Given the description of an element on the screen output the (x, y) to click on. 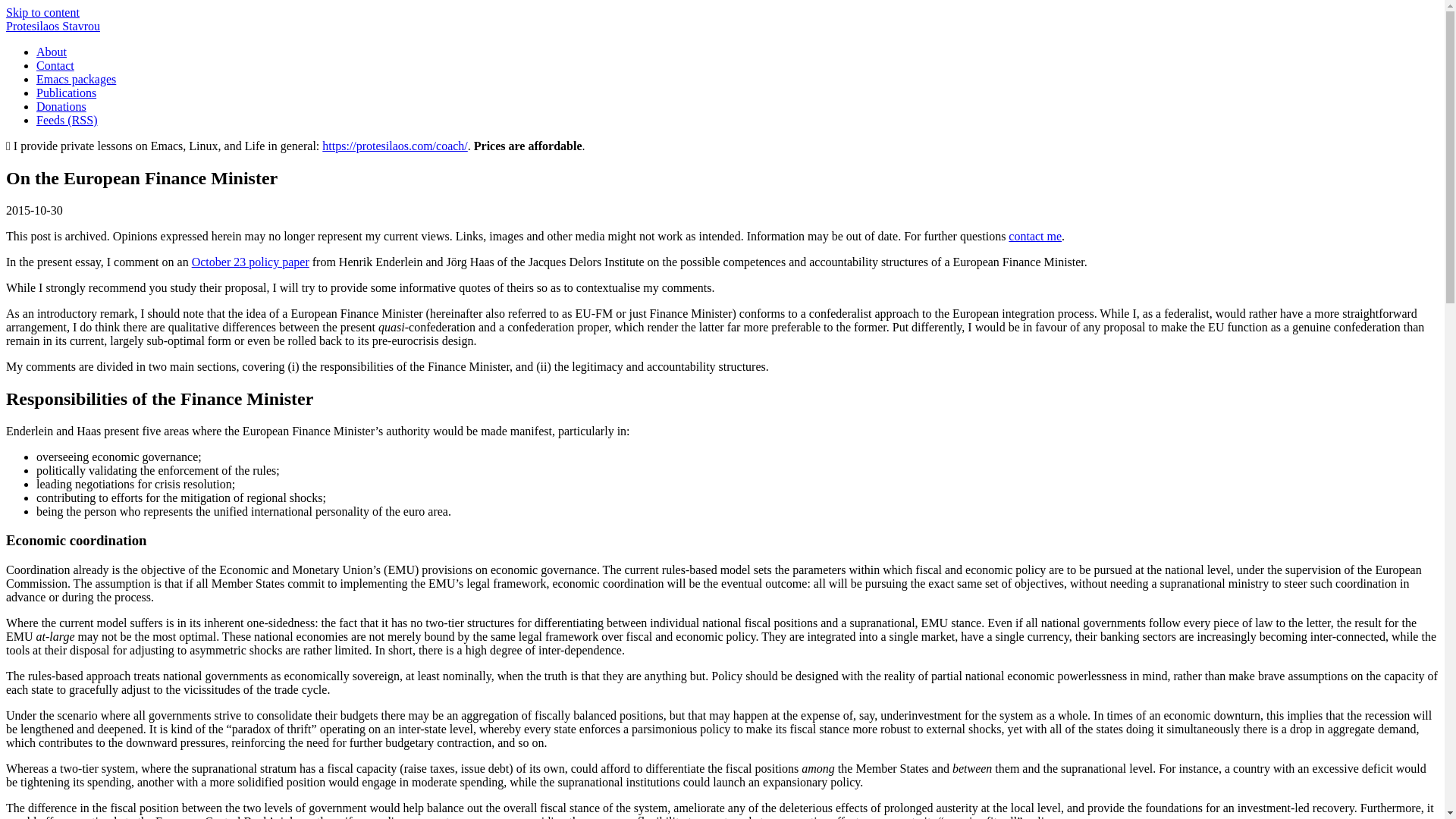
Publications (66, 92)
contact me (1035, 236)
Emacs packages (76, 78)
October 23 policy paper (250, 261)
About (51, 51)
Donations (60, 106)
Skip to content (42, 11)
Protesilaos Stavrou (52, 25)
Contact (55, 65)
